Given the description of an element on the screen output the (x, y) to click on. 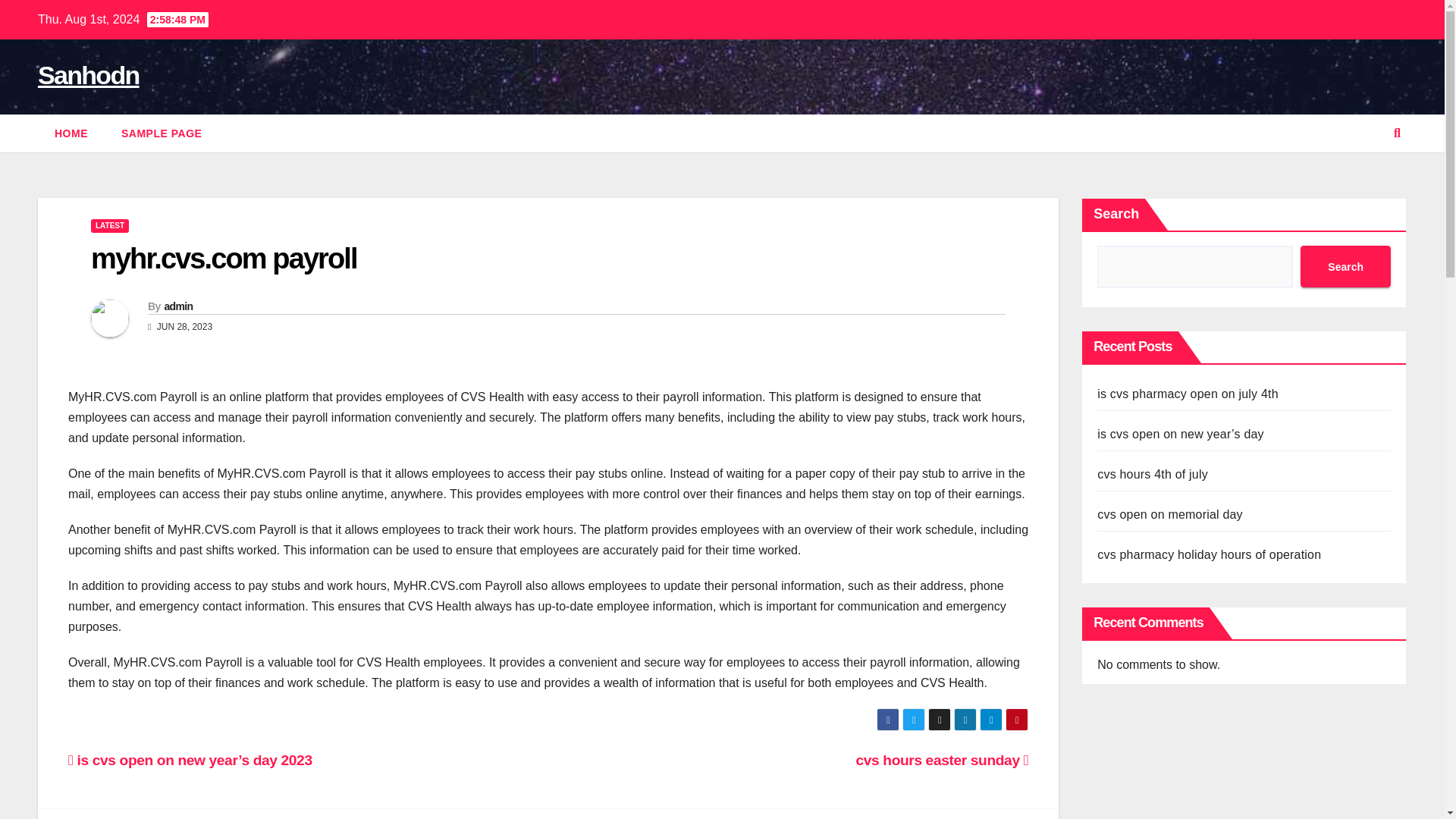
cvs hours easter sunday (941, 760)
Home (70, 133)
cvs open on memorial day (1170, 513)
admin (177, 306)
SAMPLE PAGE (161, 133)
Search (1345, 266)
myhr.cvs.com payroll (223, 258)
LATEST (109, 225)
HOME (70, 133)
cvs hours 4th of july (1152, 473)
